Given the description of an element on the screen output the (x, y) to click on. 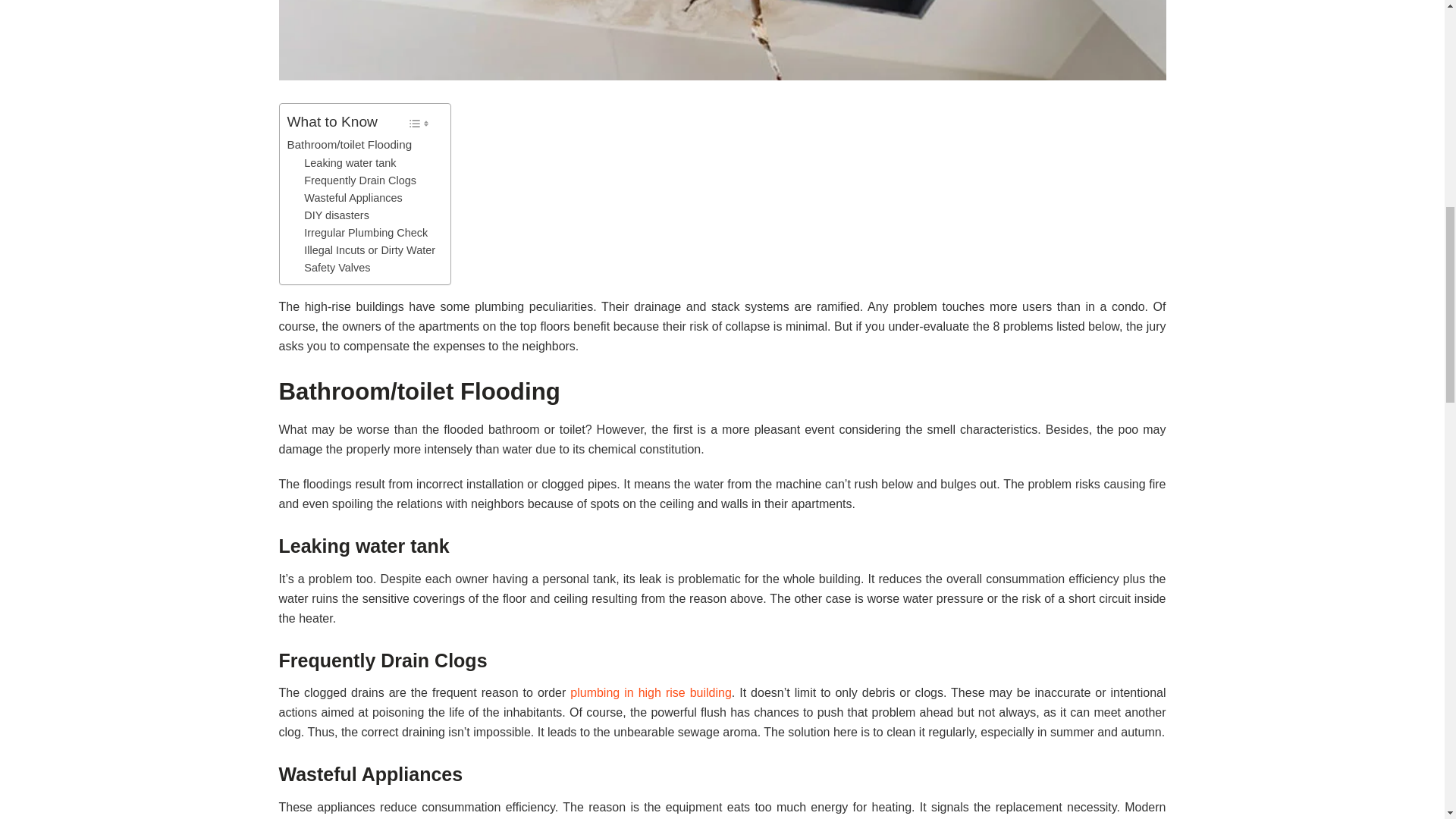
Leaking water tank (350, 162)
Irregular Plumbing Check (366, 232)
Frequently Drain Clogs (360, 180)
Safety Valves (336, 267)
Illegal Incuts or Dirty Water (369, 250)
Wasteful Appliances (352, 198)
DIY disasters (336, 215)
